Given the description of an element on the screen output the (x, y) to click on. 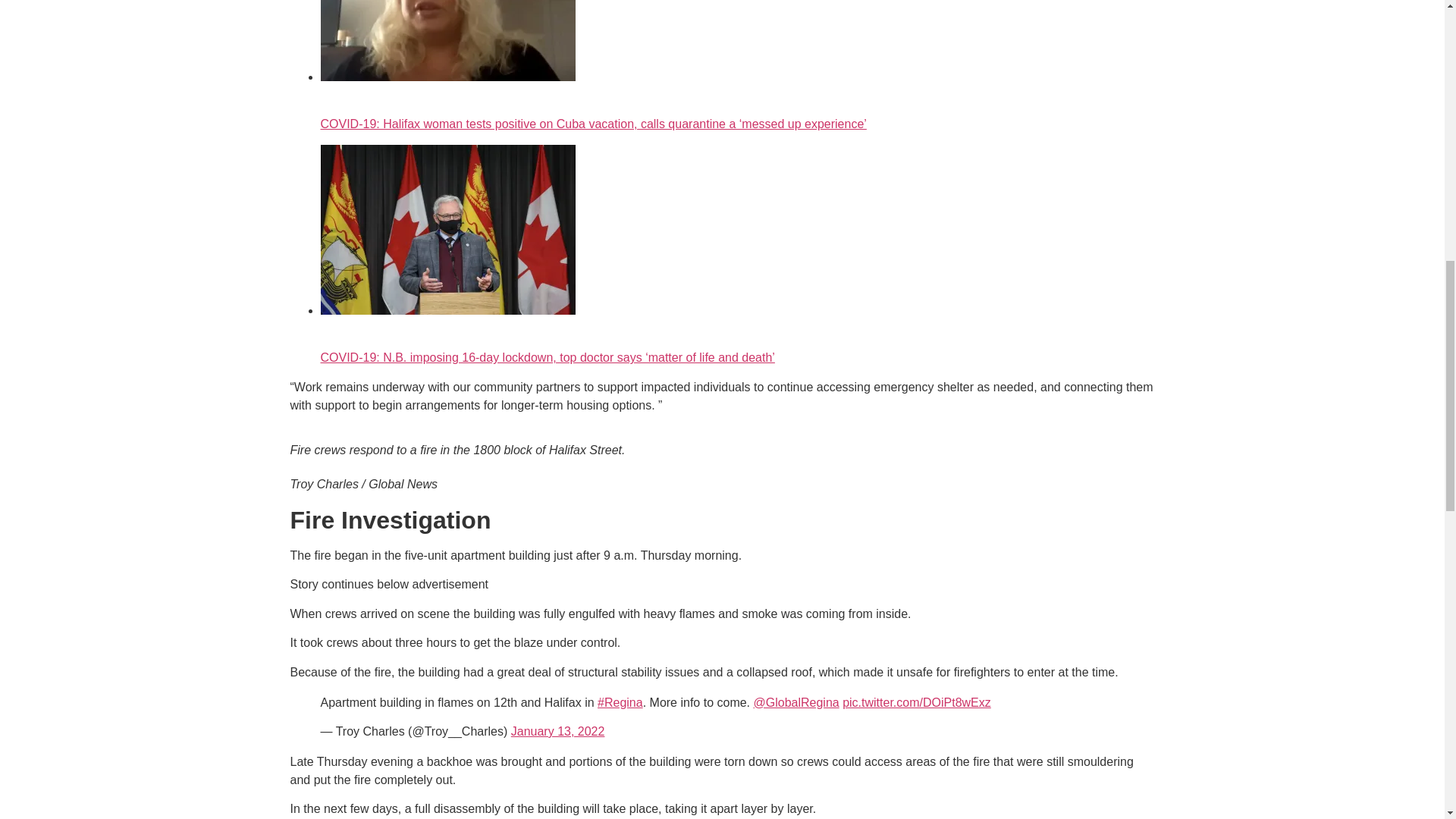
January 13, 2022 (558, 730)
